Given the description of an element on the screen output the (x, y) to click on. 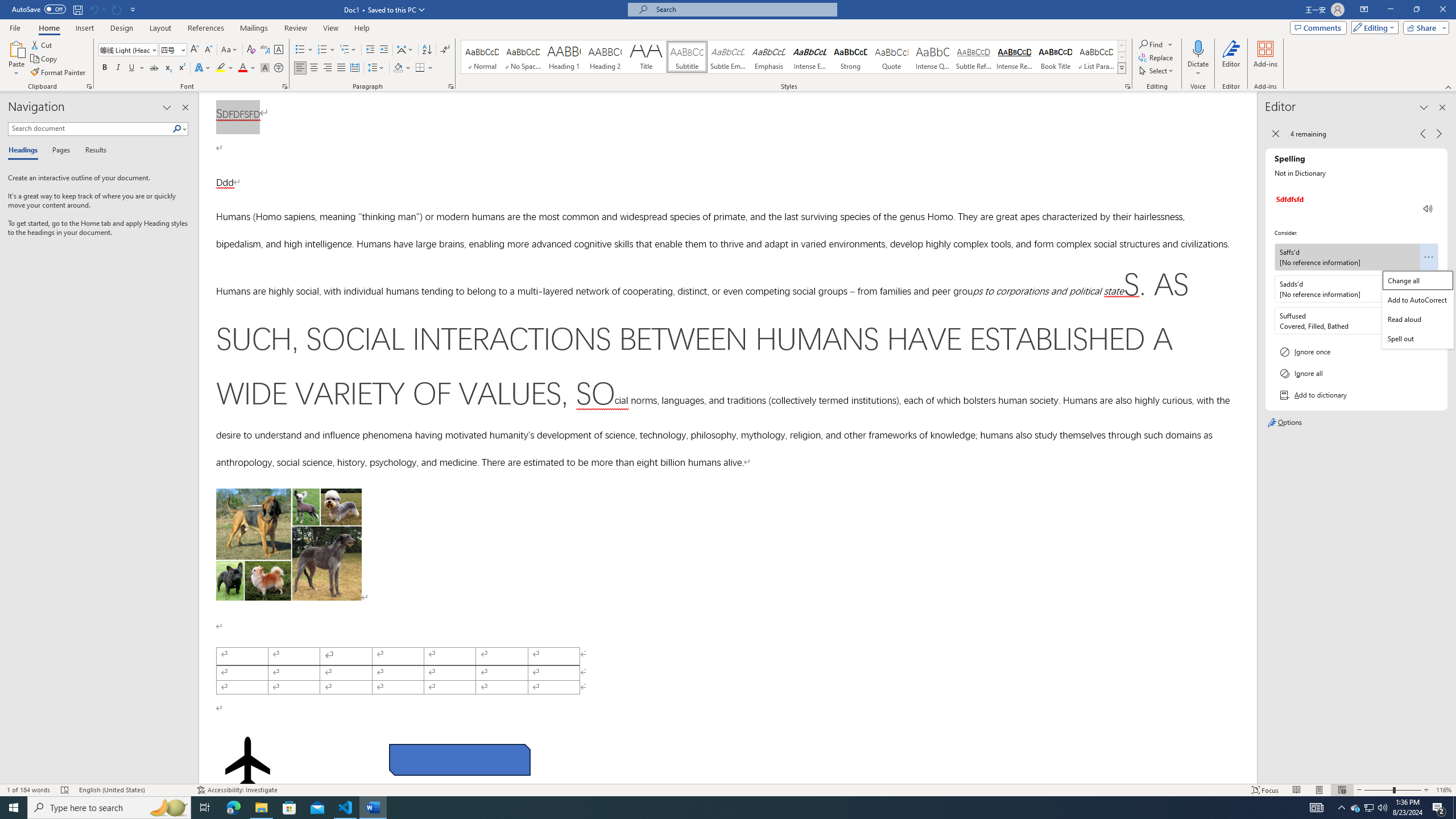
File Explorer - 1 running window (261, 807)
Morphological variation in six dogs (288, 544)
